Given the description of an element on the screen output the (x, y) to click on. 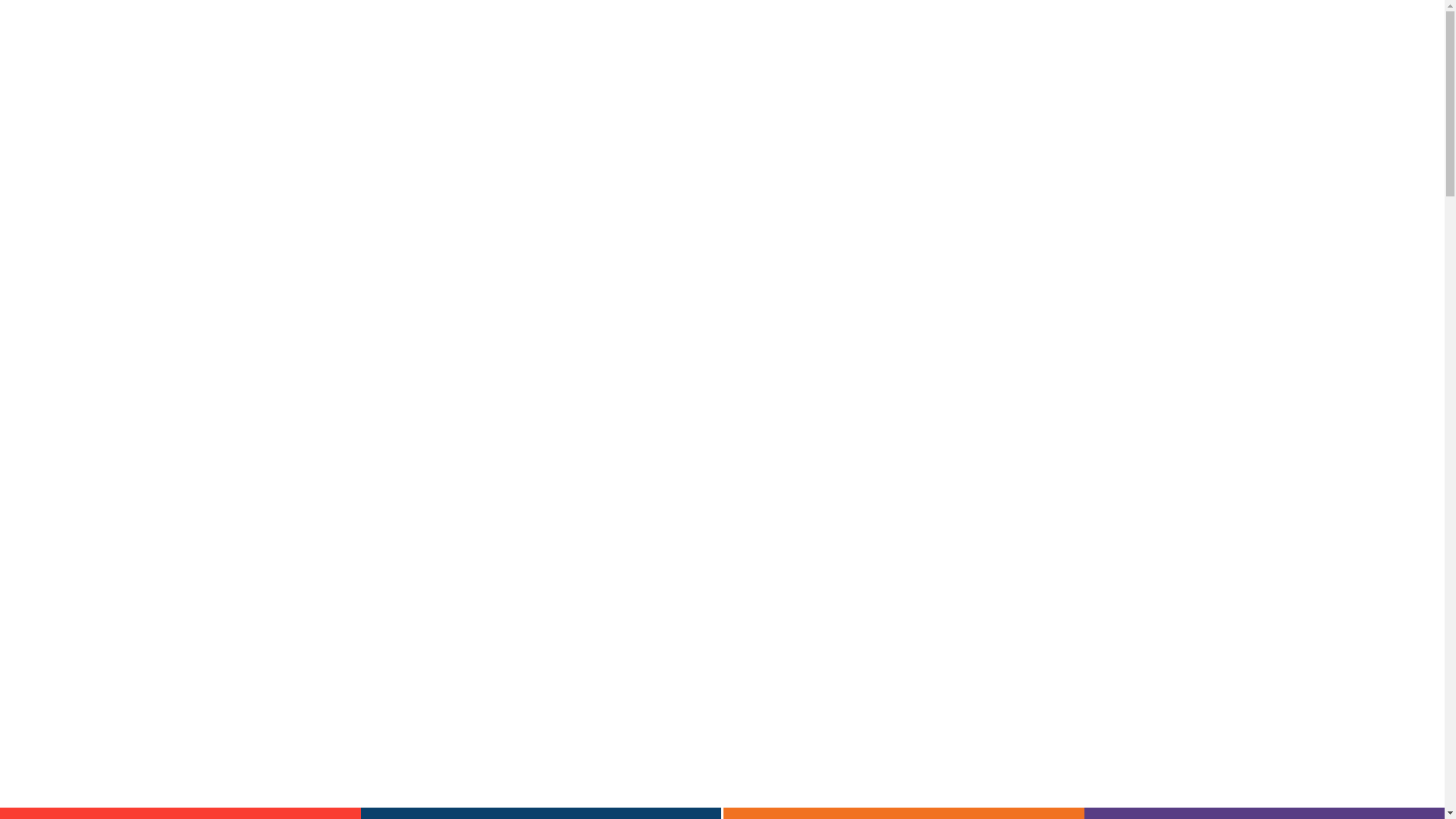
utopiax.global Element type: text (798, 628)
